Given the description of an element on the screen output the (x, y) to click on. 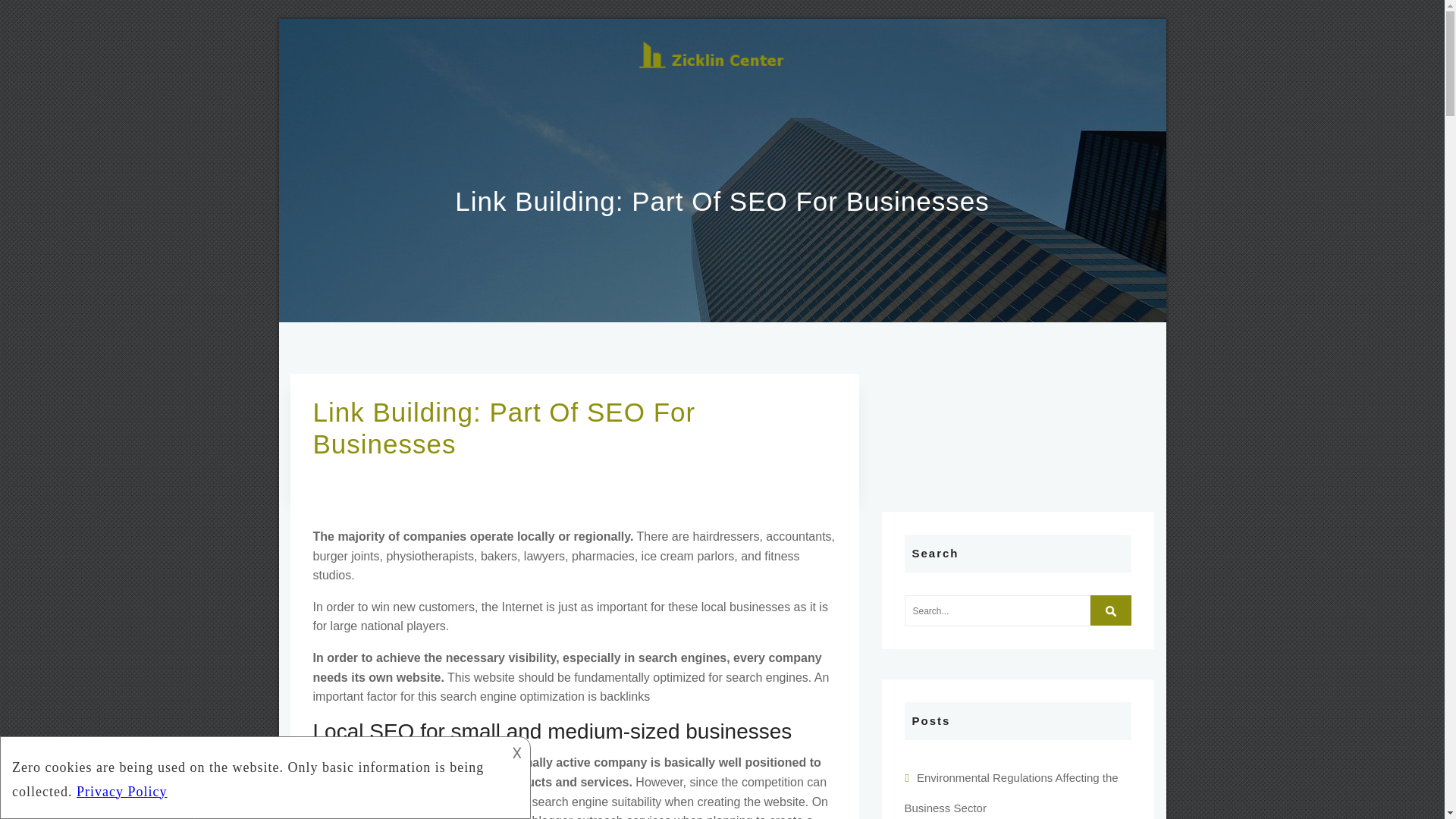
description (252, 775)
